Given the description of an element on the screen output the (x, y) to click on. 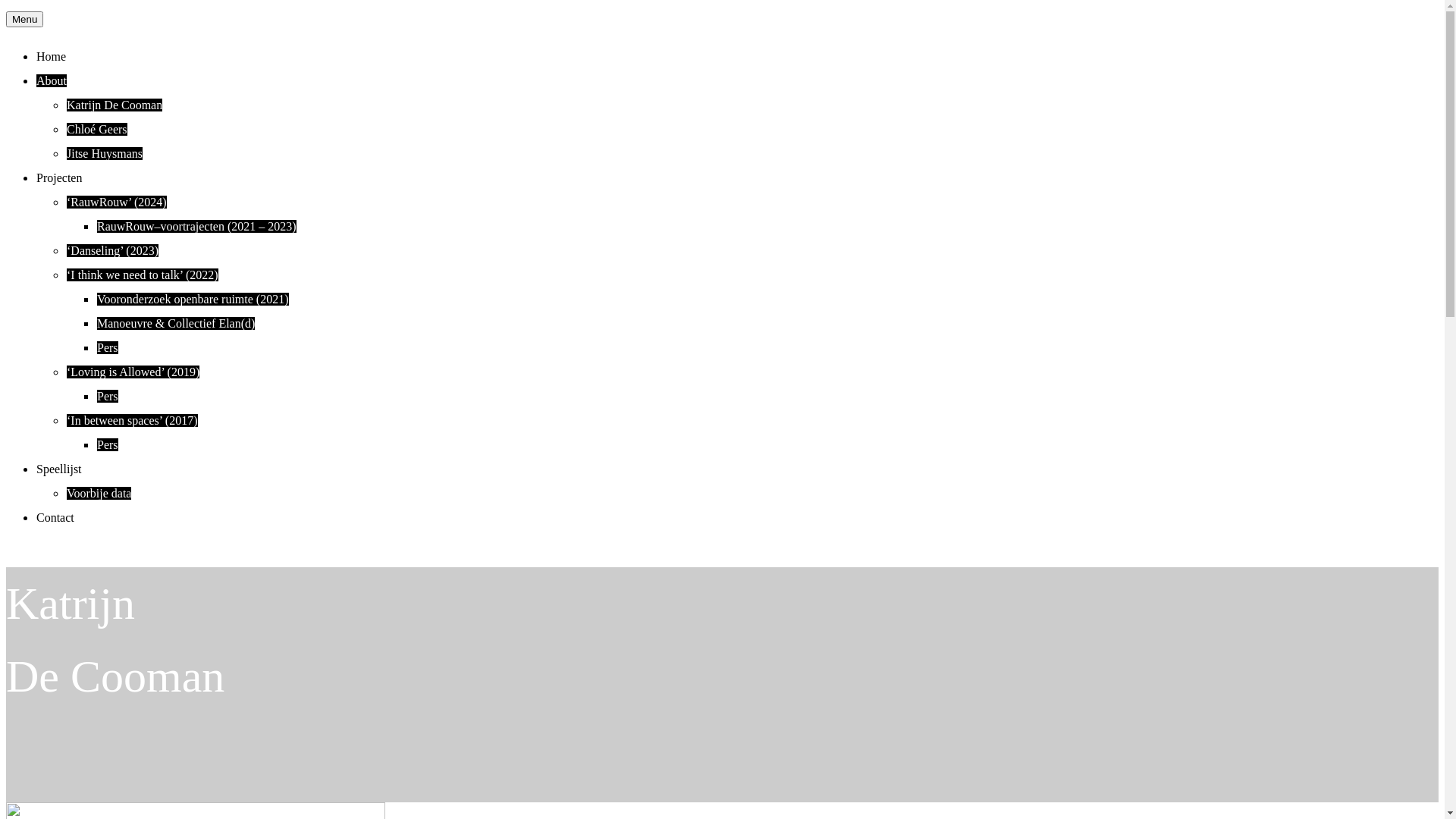
Home Element type: text (50, 56)
Projecten Element type: text (58, 177)
Voorbije data Element type: text (98, 492)
Manoeuvre & Collectief Elan(d) Element type: text (175, 322)
Contact Element type: text (55, 517)
Vooronderzoek openbare ruimte (2021) Element type: text (192, 298)
Jitse Huysmans Element type: text (104, 153)
Pers Element type: text (107, 444)
Katrijn De Cooman Element type: text (114, 104)
Pers Element type: text (107, 395)
Pers Element type: text (107, 347)
Speellijst Element type: text (58, 468)
About Element type: text (51, 80)
Menu Element type: text (24, 19)
